Given the description of an element on the screen output the (x, y) to click on. 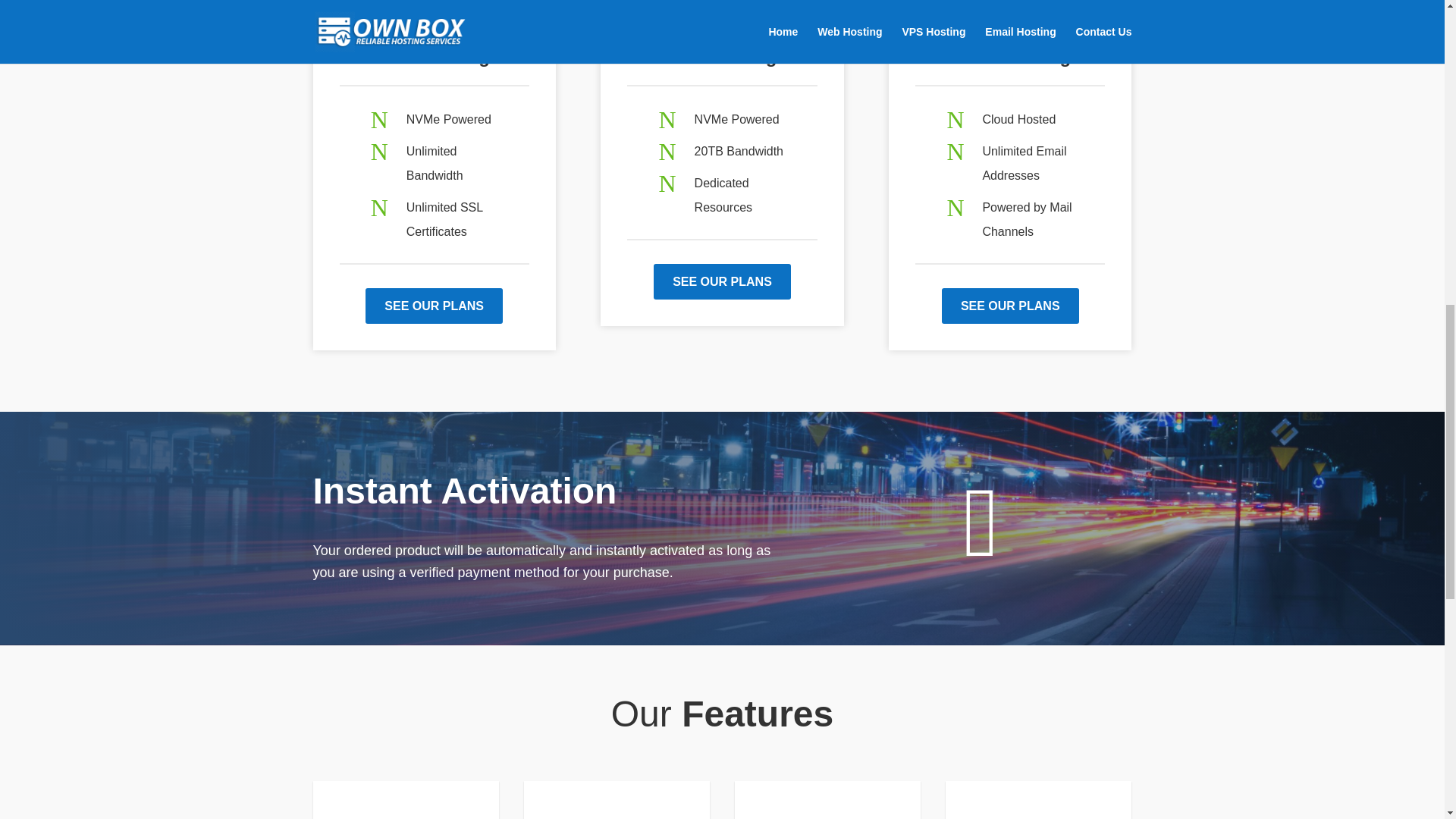
SEE OUR PLANS (1010, 305)
SEE OUR PLANS (433, 305)
SEE OUR PLANS (721, 281)
